Given the description of an element on the screen output the (x, y) to click on. 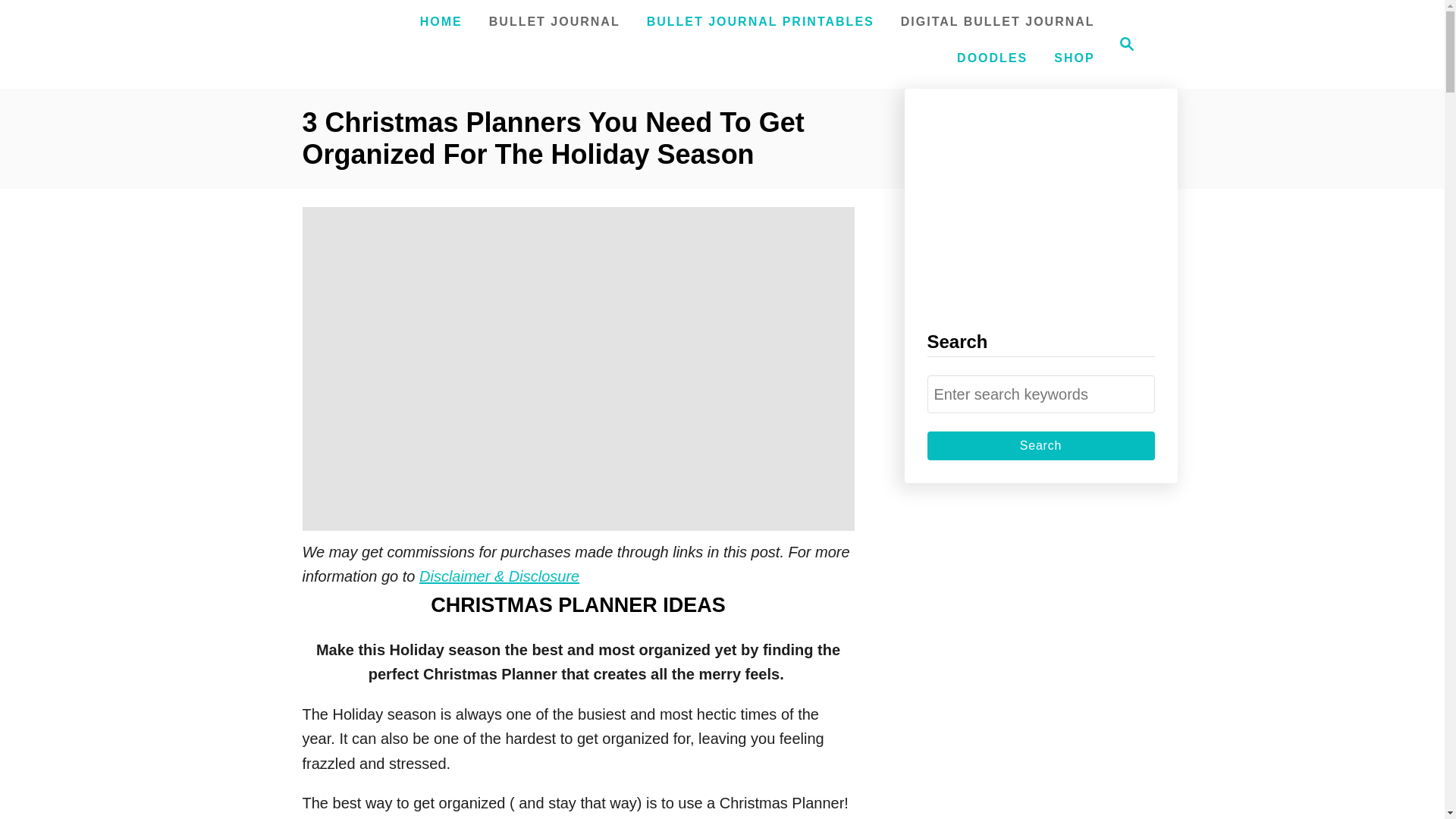
BULLET JOURNAL PRINTABLES (760, 21)
BULLET JOURNAL (554, 21)
Search (1040, 445)
DOODLES (992, 58)
DIGITAL BULLET JOURNAL (997, 21)
SHOP (1122, 43)
Search (1074, 58)
Search for: (1040, 445)
HOME (1040, 394)
Magnifying Glass (441, 21)
